Given the description of an element on the screen output the (x, y) to click on. 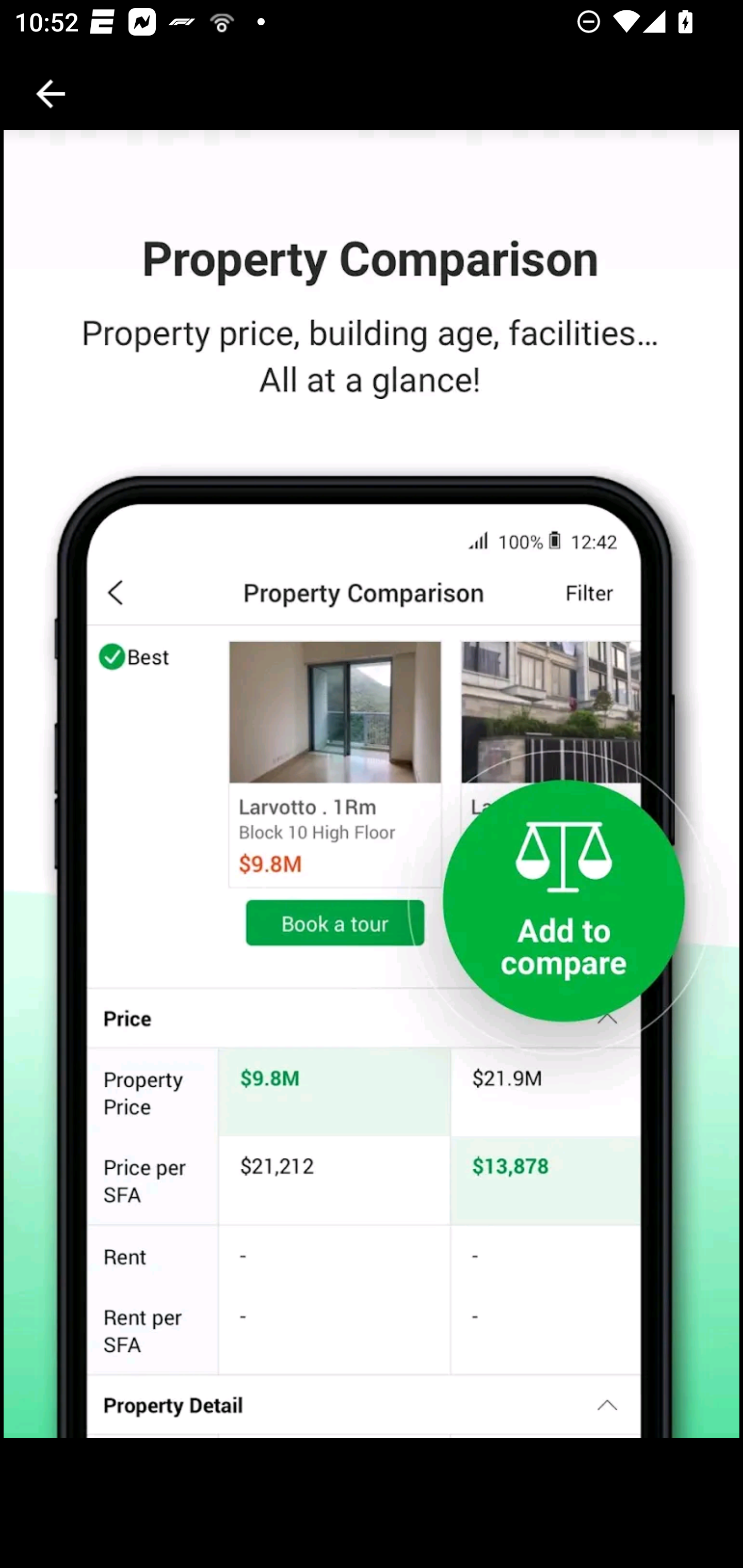
Back (50, 93)
